Given the description of an element on the screen output the (x, y) to click on. 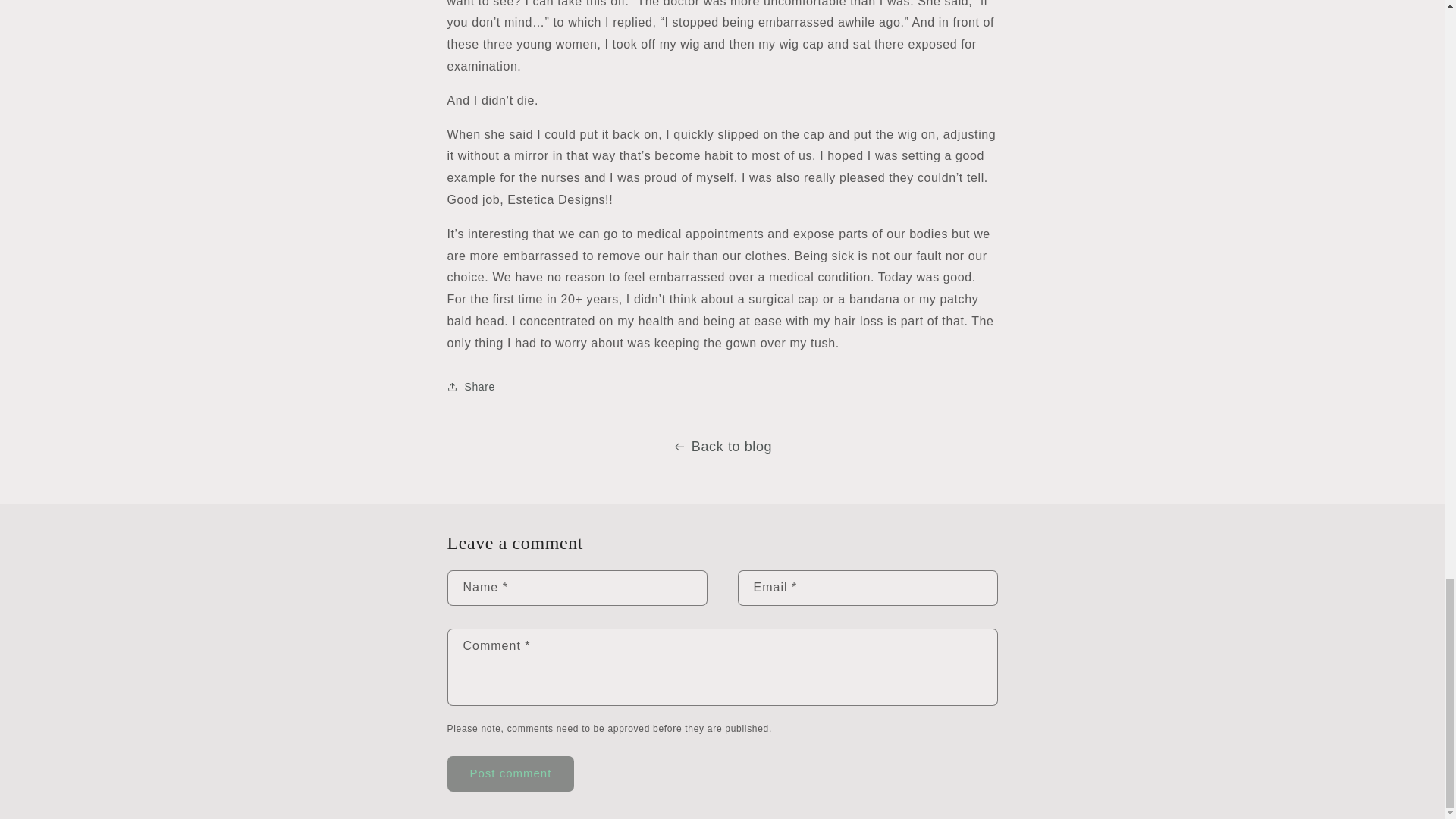
Post comment (510, 773)
Post comment (510, 773)
